Given the description of an element on the screen output the (x, y) to click on. 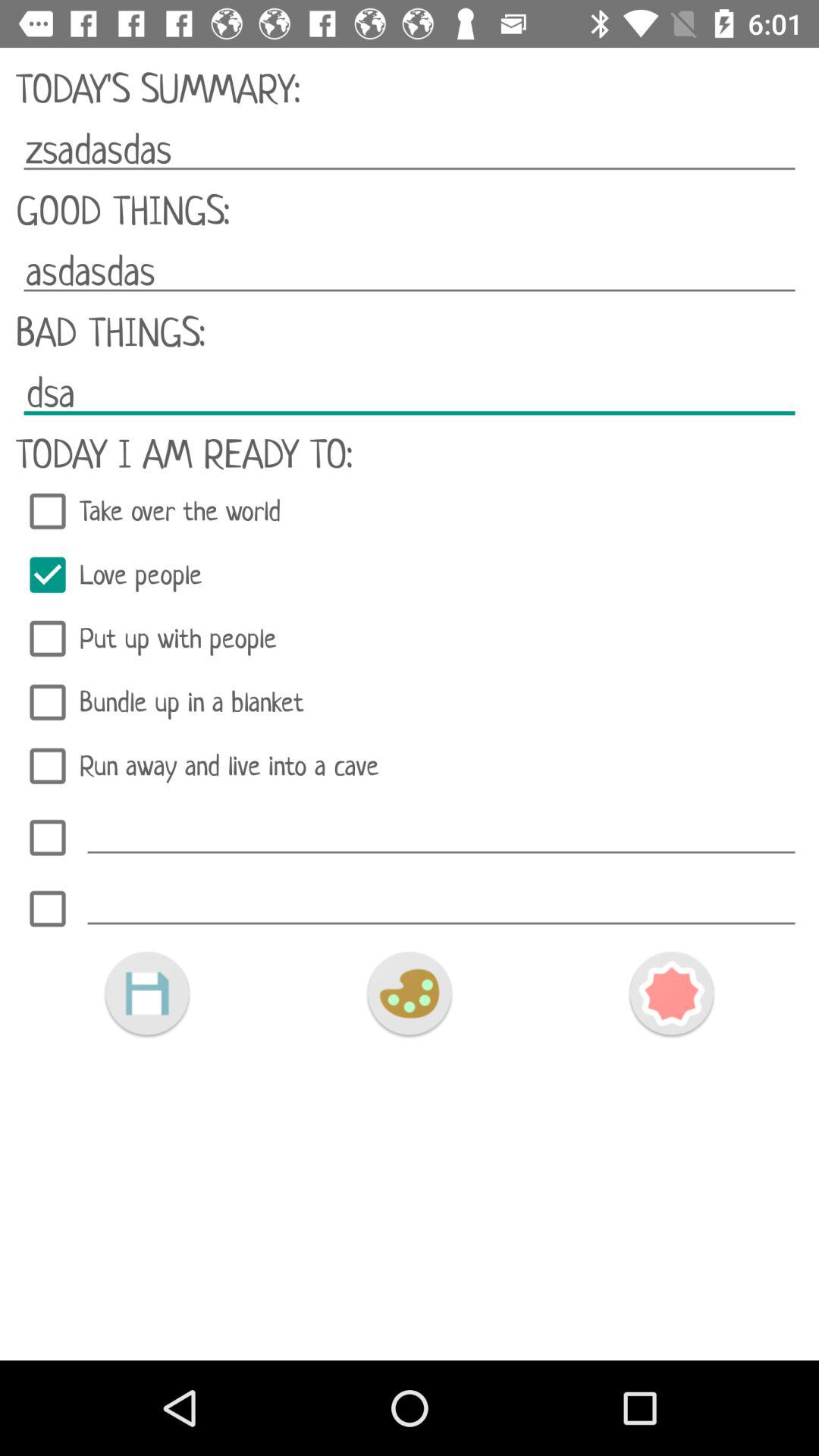
swipe to zsadasdas item (409, 149)
